Given the description of an element on the screen output the (x, y) to click on. 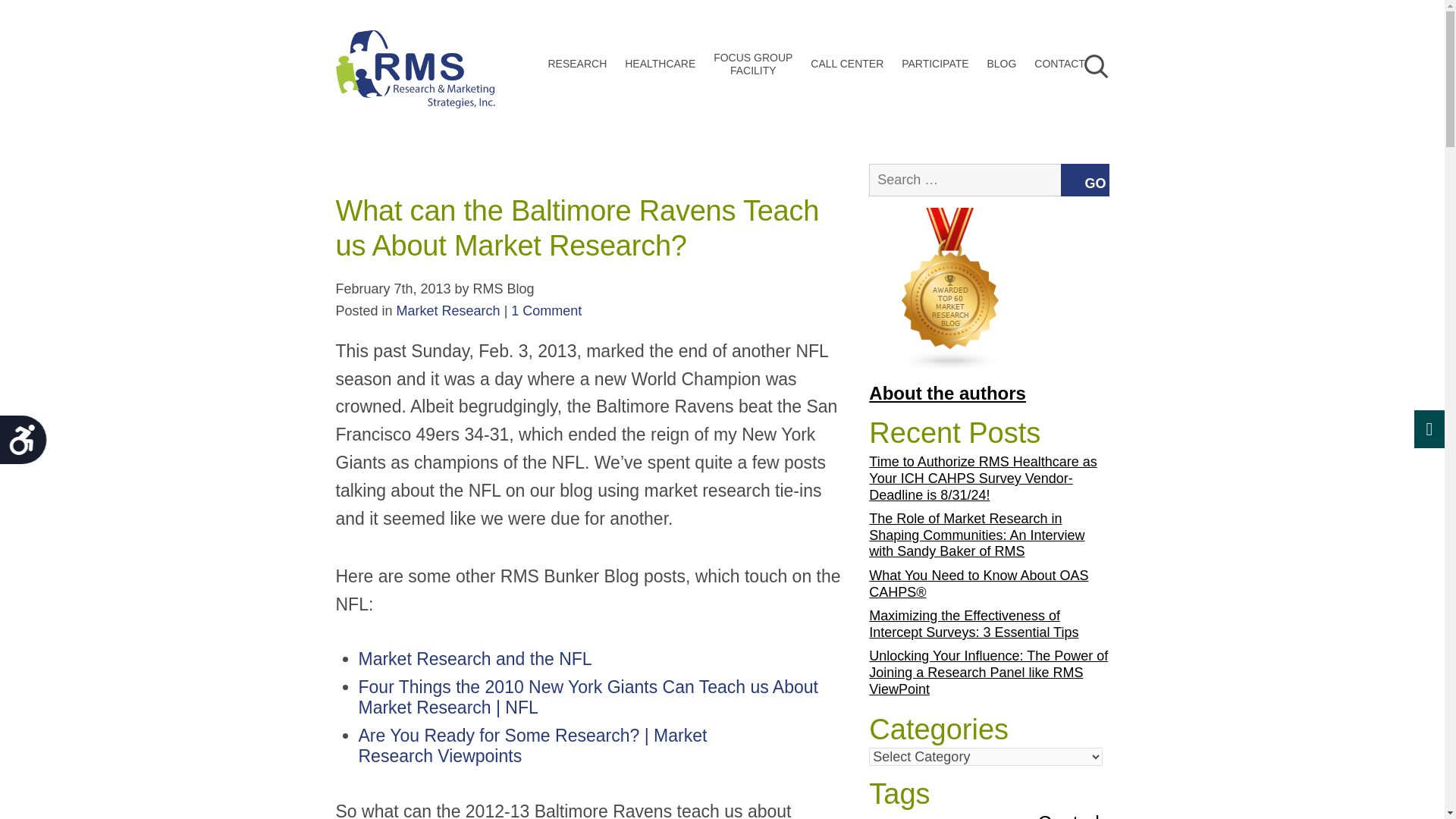
RMS (414, 80)
Search for: (752, 64)
1 Comment (988, 179)
Market Research and the NFL (545, 310)
CONTACT (474, 659)
GO (1059, 63)
Accessibility (1085, 108)
BLOG (29, 445)
CALL CENTER (1000, 63)
GO (847, 63)
RESEARCH (1083, 179)
GO (577, 63)
